Given the description of an element on the screen output the (x, y) to click on. 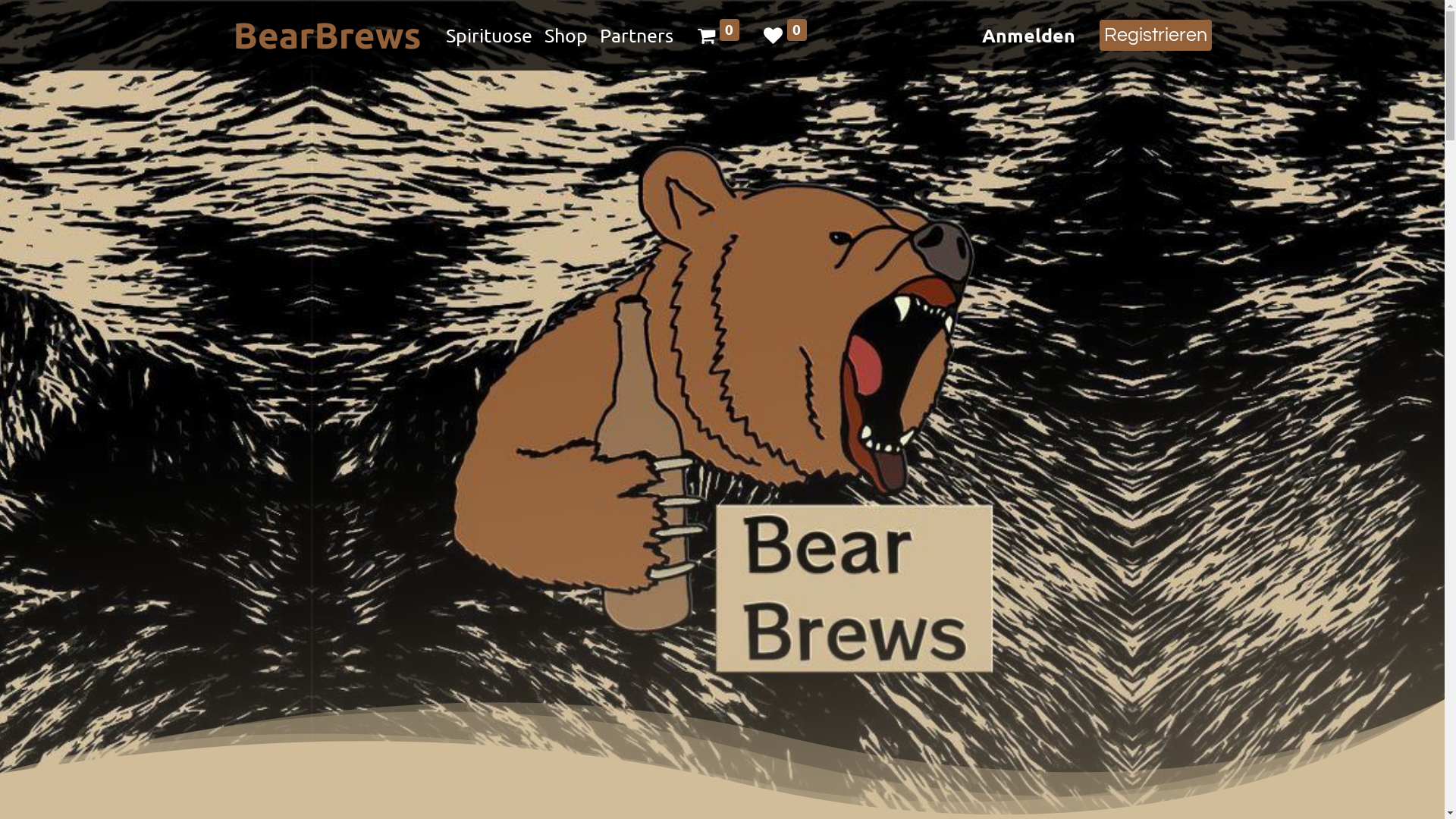
Registrieren Element type: text (1155, 35)
BearBrews Element type: text (327, 35)
Anmelden Element type: text (1027, 35)
Shop Element type: text (565, 35)
0 Element type: text (784, 35)
Partners Element type: text (636, 35)
Spirituose Element type: text (488, 35)
0 Element type: text (718, 35)
